Given the description of an element on the screen output the (x, y) to click on. 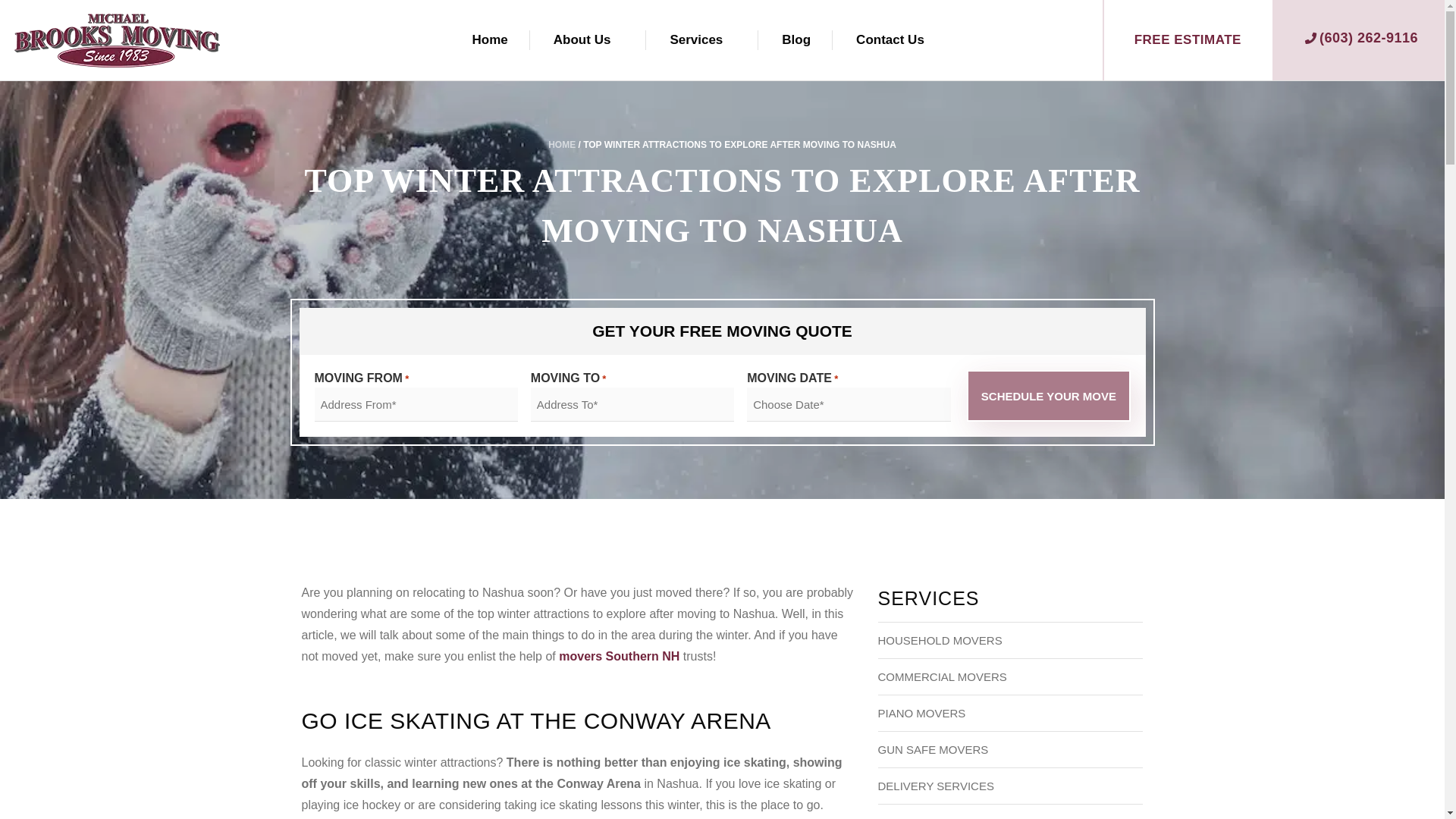
FREE ESTIMATE (1187, 40)
Schedule Your Move (1047, 395)
HOME (561, 144)
About Us (582, 39)
Contact Us (890, 39)
Services (695, 39)
